Given the description of an element on the screen output the (x, y) to click on. 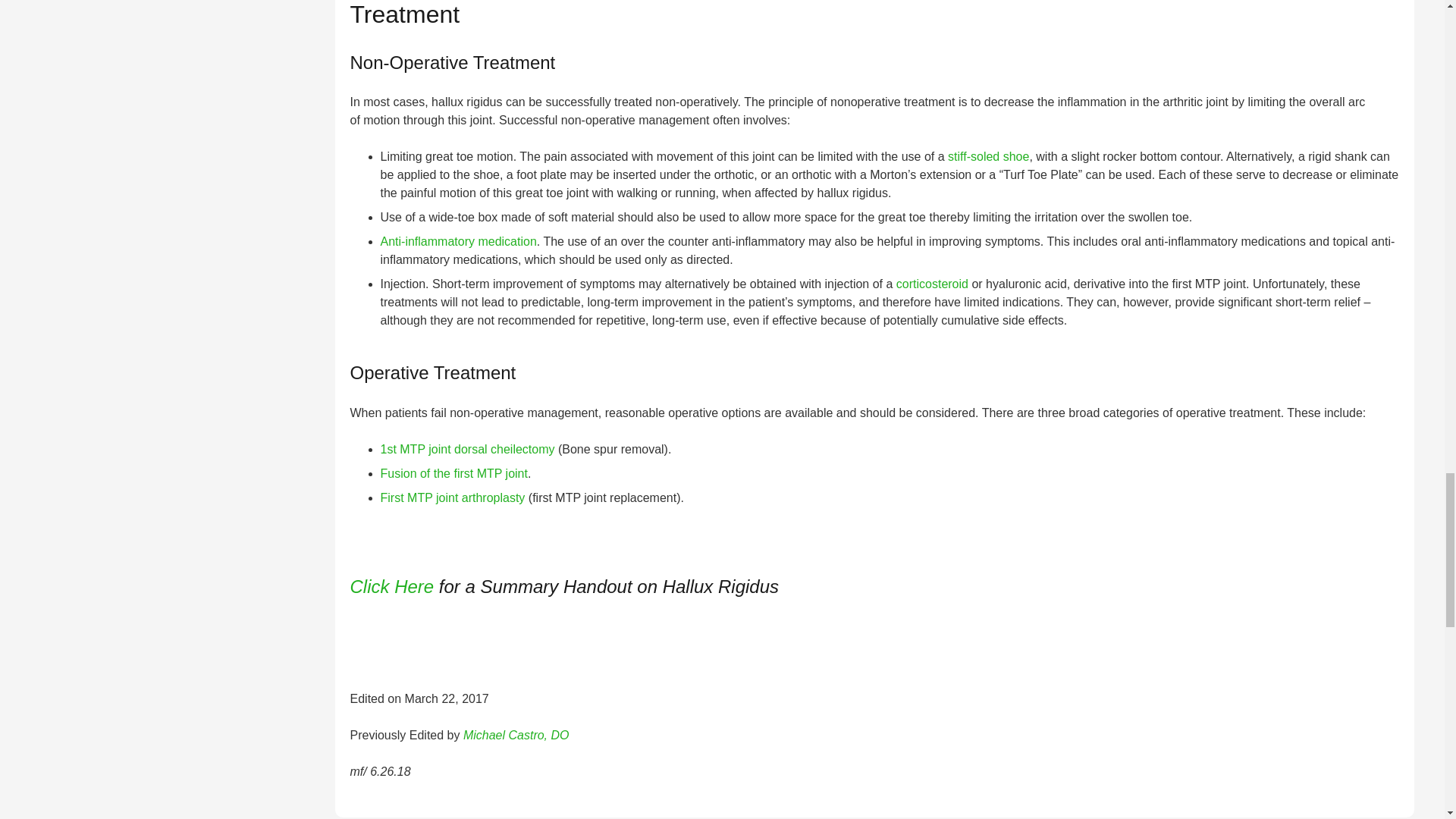
Fusion of the first MTP joint (453, 472)
stiff-soled shoe (988, 155)
Michael Castro, DO (516, 735)
Click Here (391, 586)
corticosteroid  (934, 283)
First MTP joint arthroplasty (452, 497)
1st MTP joint dorsal cheilectomy (467, 449)
Anti-inflammatory medication (458, 241)
